Given the description of an element on the screen output the (x, y) to click on. 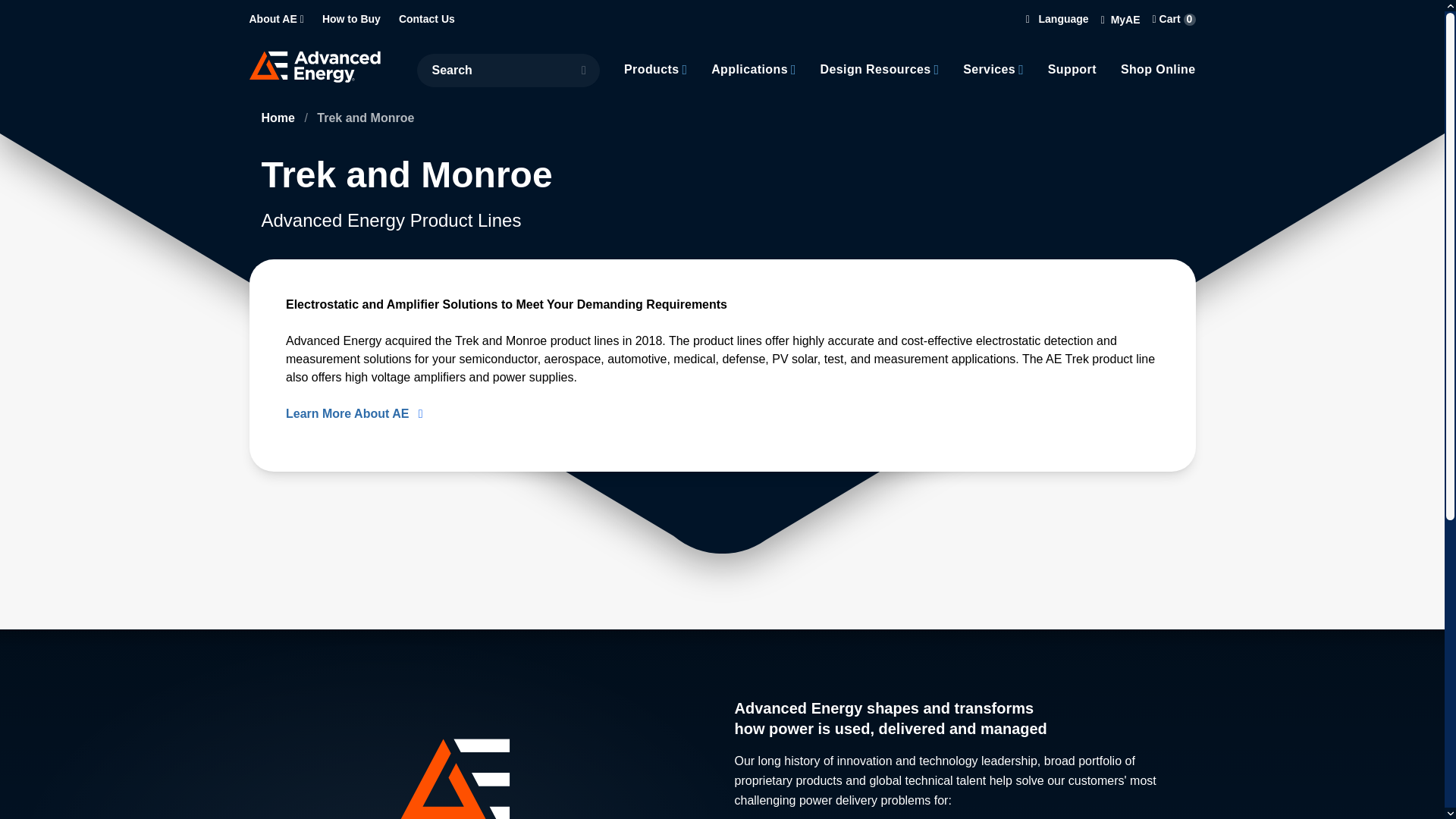
Support (1072, 69)
Services (988, 69)
Contact Us (426, 19)
Applications (749, 69)
Products (651, 69)
About AE (272, 19)
Design Resources (876, 69)
About AE (275, 19)
Shop Online (1158, 69)
Contact Us (426, 19)
How to Buy (350, 19)
Products (655, 69)
How to Buy (350, 19)
